Given the description of an element on the screen output the (x, y) to click on. 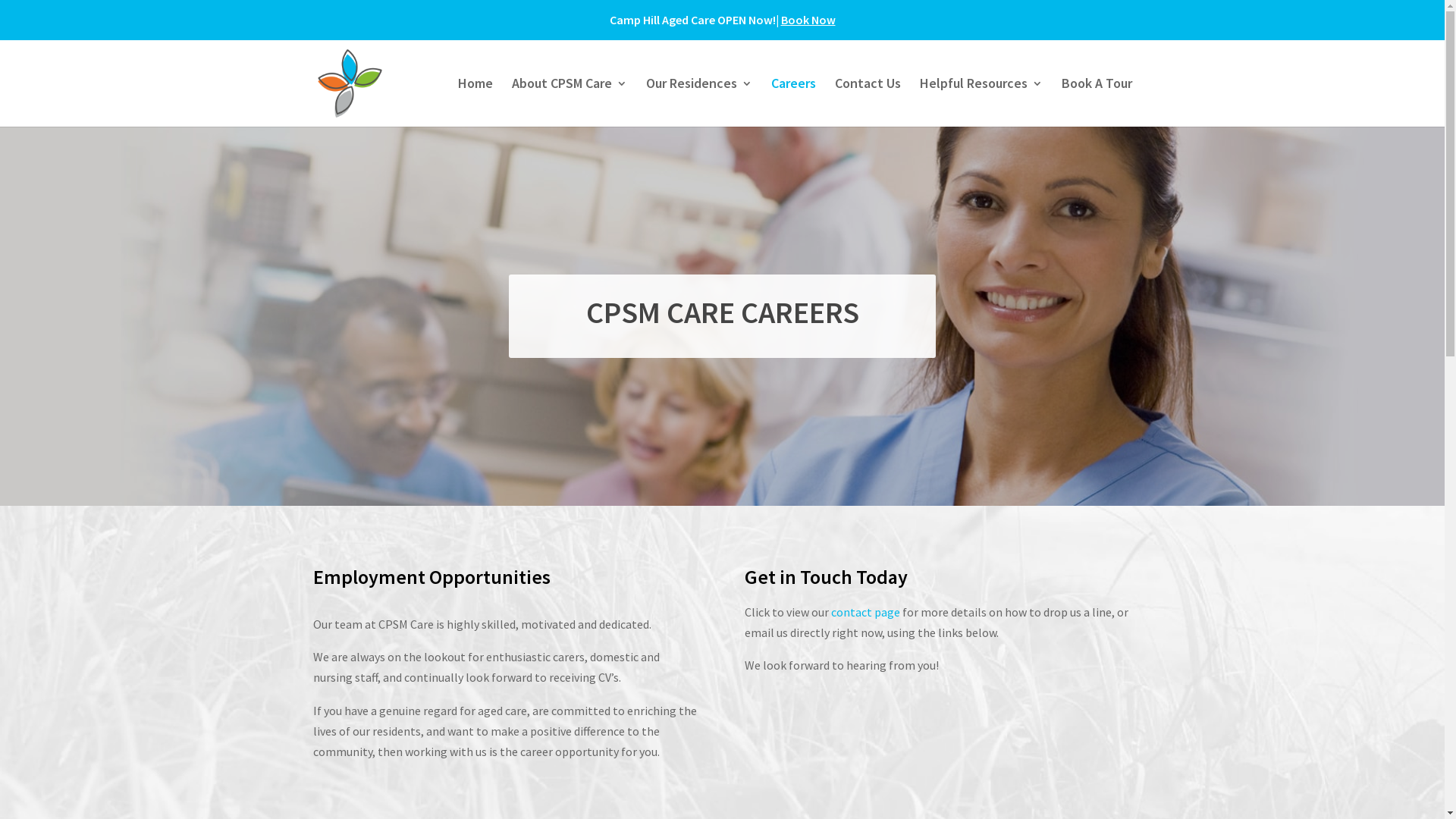
Book A Tour Element type: text (1096, 102)
Contact Us Element type: text (867, 102)
Home Element type: text (475, 102)
contact page Element type: text (865, 611)
Our Residences Element type: text (699, 102)
About CPSM Care Element type: text (568, 102)
Careers Element type: text (792, 102)
Helpful Resources Element type: text (980, 102)
Book Now Element type: text (808, 19)
